Given the description of an element on the screen output the (x, y) to click on. 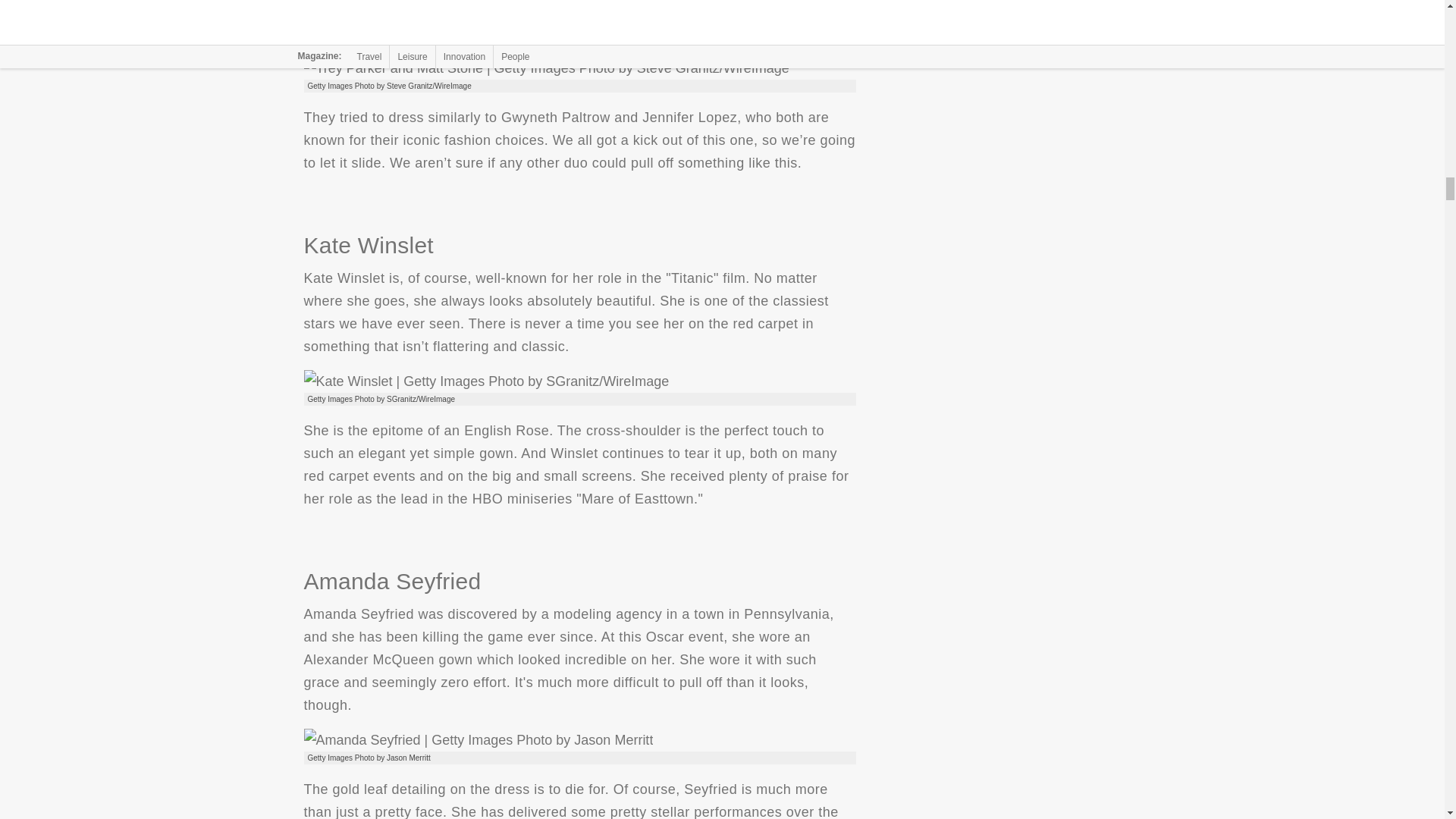
Amanda Seyfried (477, 739)
Kate Winslet (485, 381)
Trey Parker and Matt Stone (545, 67)
